Given the description of an element on the screen output the (x, y) to click on. 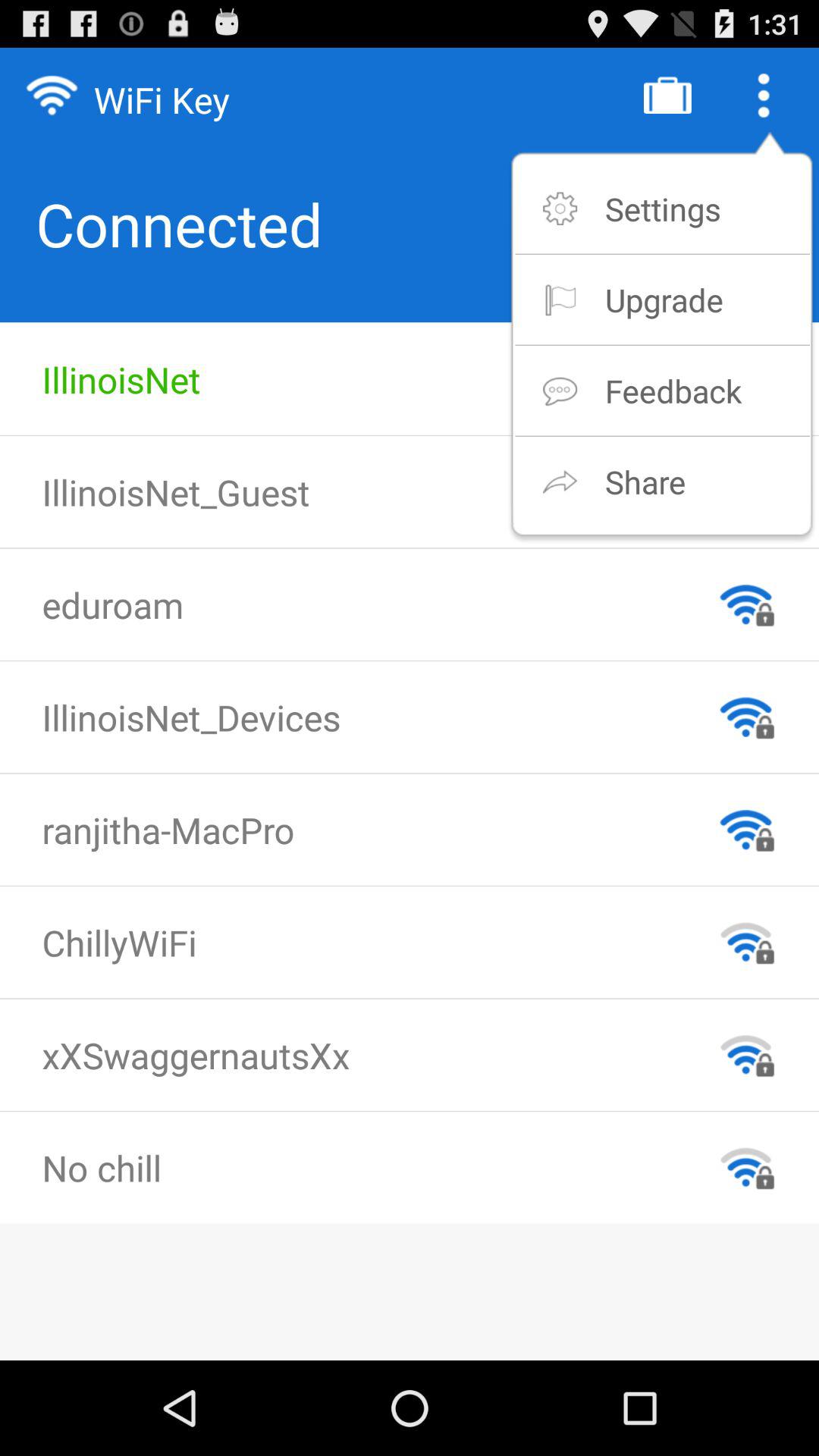
press the item above the feedback app (664, 299)
